Given the description of an element on the screen output the (x, y) to click on. 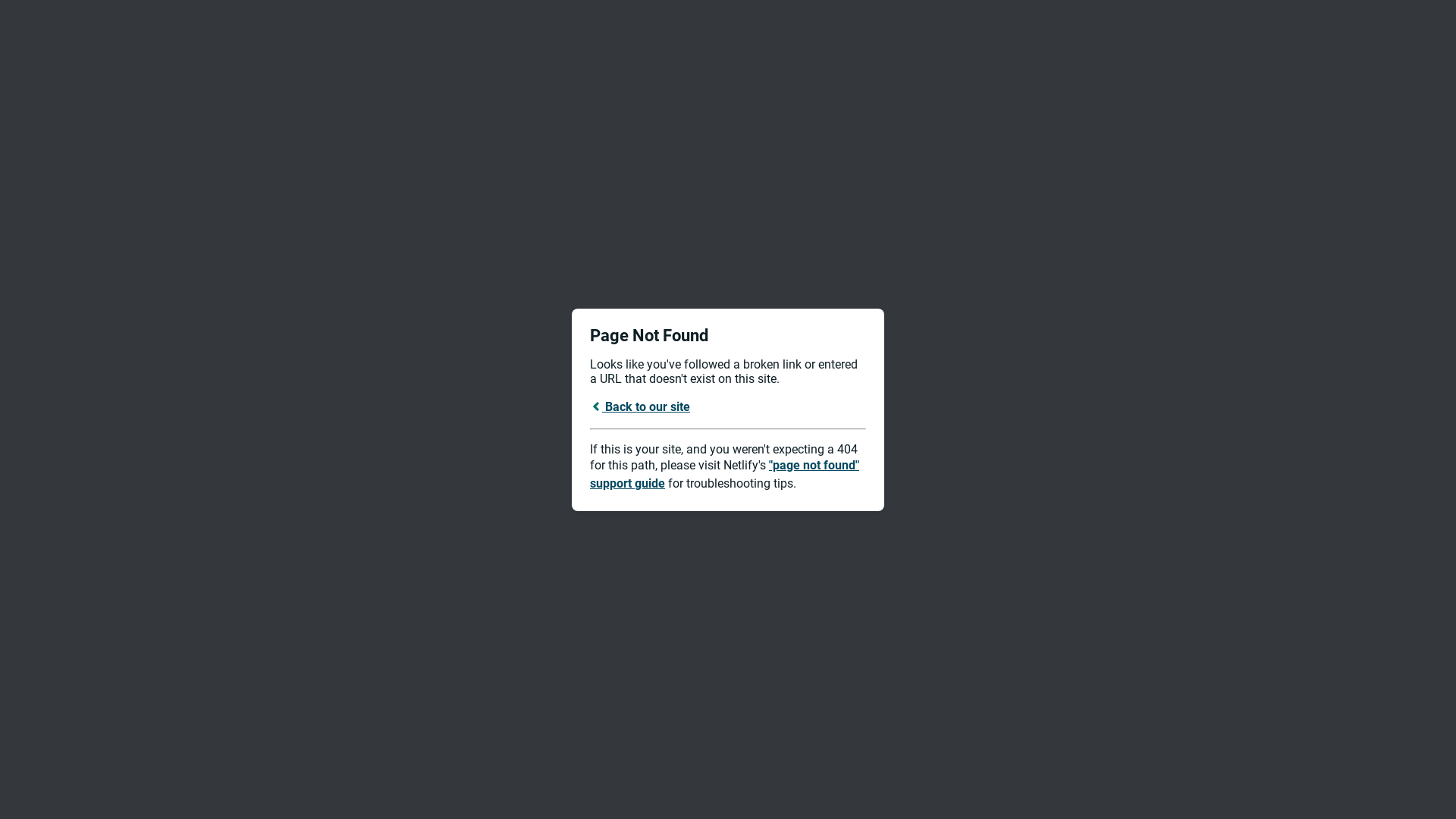
"page not found" support guide Element type: text (724, 474)
Back to our site Element type: text (639, 405)
